Given the description of an element on the screen output the (x, y) to click on. 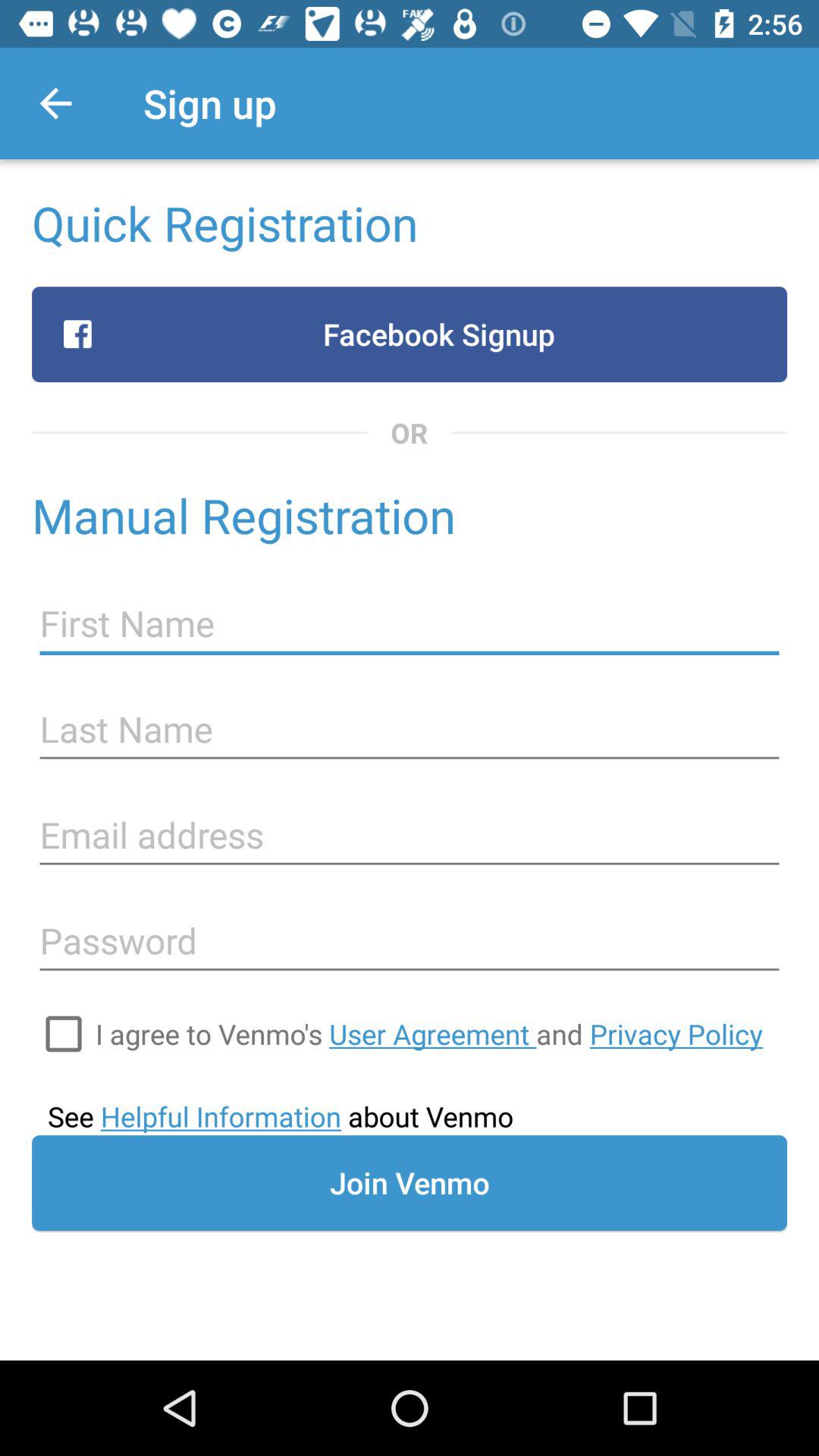
turn on icon to the left of i agree to item (63, 1033)
